Given the description of an element on the screen output the (x, y) to click on. 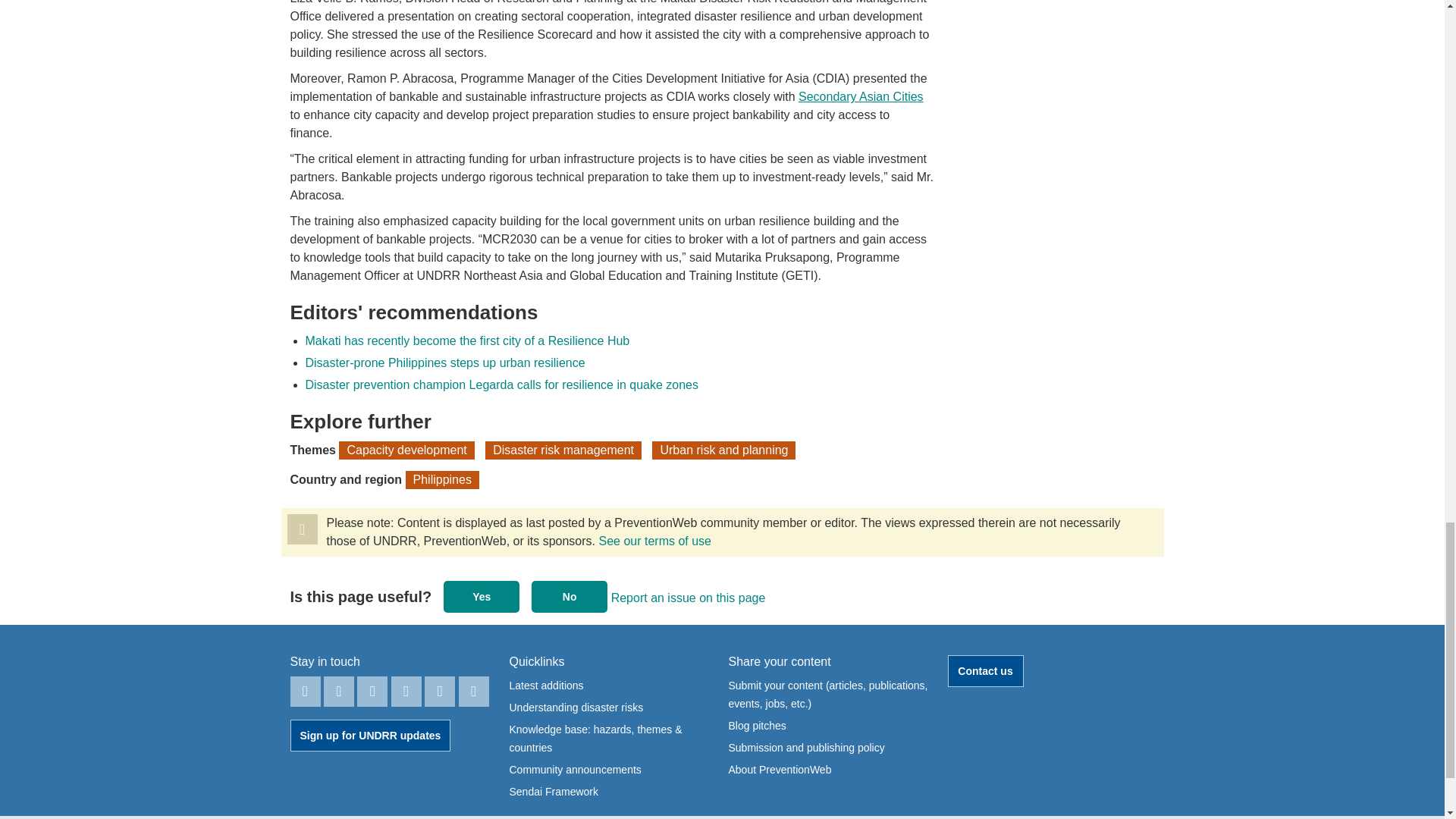
Urban risk and planning (723, 450)
Philippines (442, 479)
Capacity development (406, 450)
Secondary Asian Cities (860, 96)
Disaster-prone Philippines steps up urban resilience (444, 362)
Disaster risk management (563, 450)
